Given the description of an element on the screen output the (x, y) to click on. 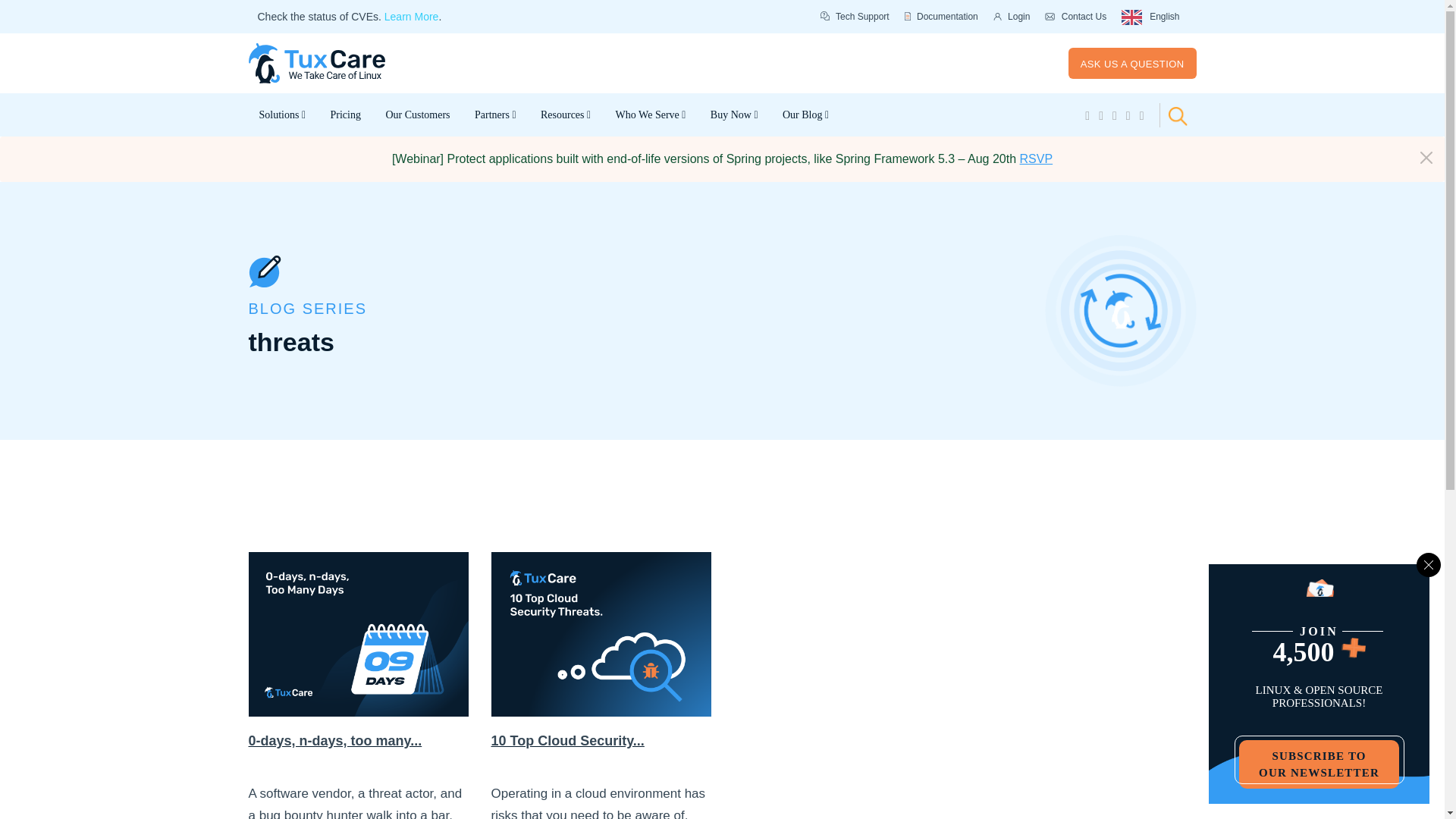
Contact Us (1075, 16)
ASK US A QUESTION (1132, 62)
Partners (495, 114)
English (1150, 16)
English (1150, 16)
Pricing (344, 114)
Documentation (941, 16)
Solutions (282, 114)
Learn More (411, 16)
Login (1011, 16)
